Given the description of an element on the screen output the (x, y) to click on. 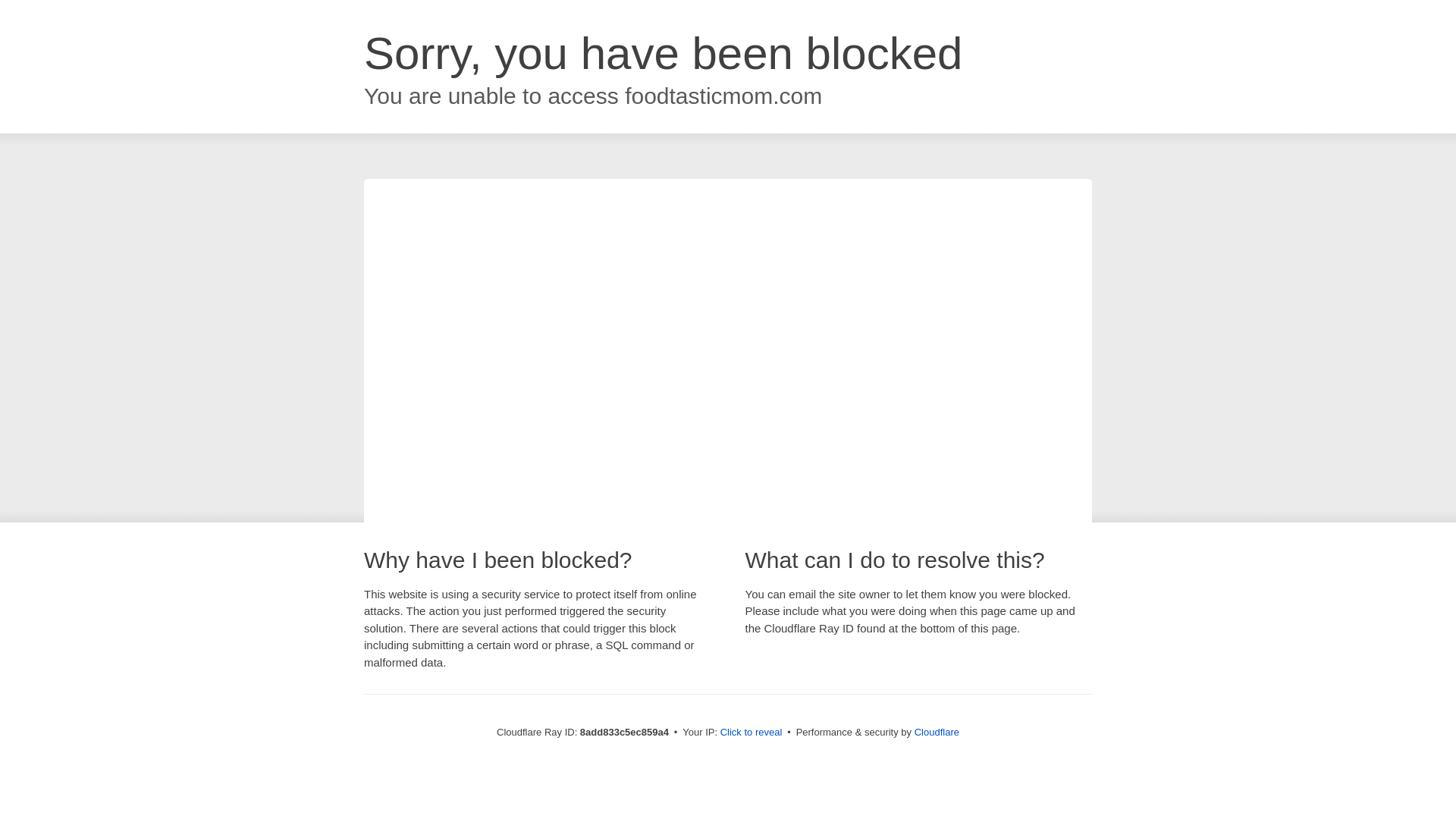
Cloudflare (936, 731)
Click to reveal (751, 732)
